Given the description of an element on the screen output the (x, y) to click on. 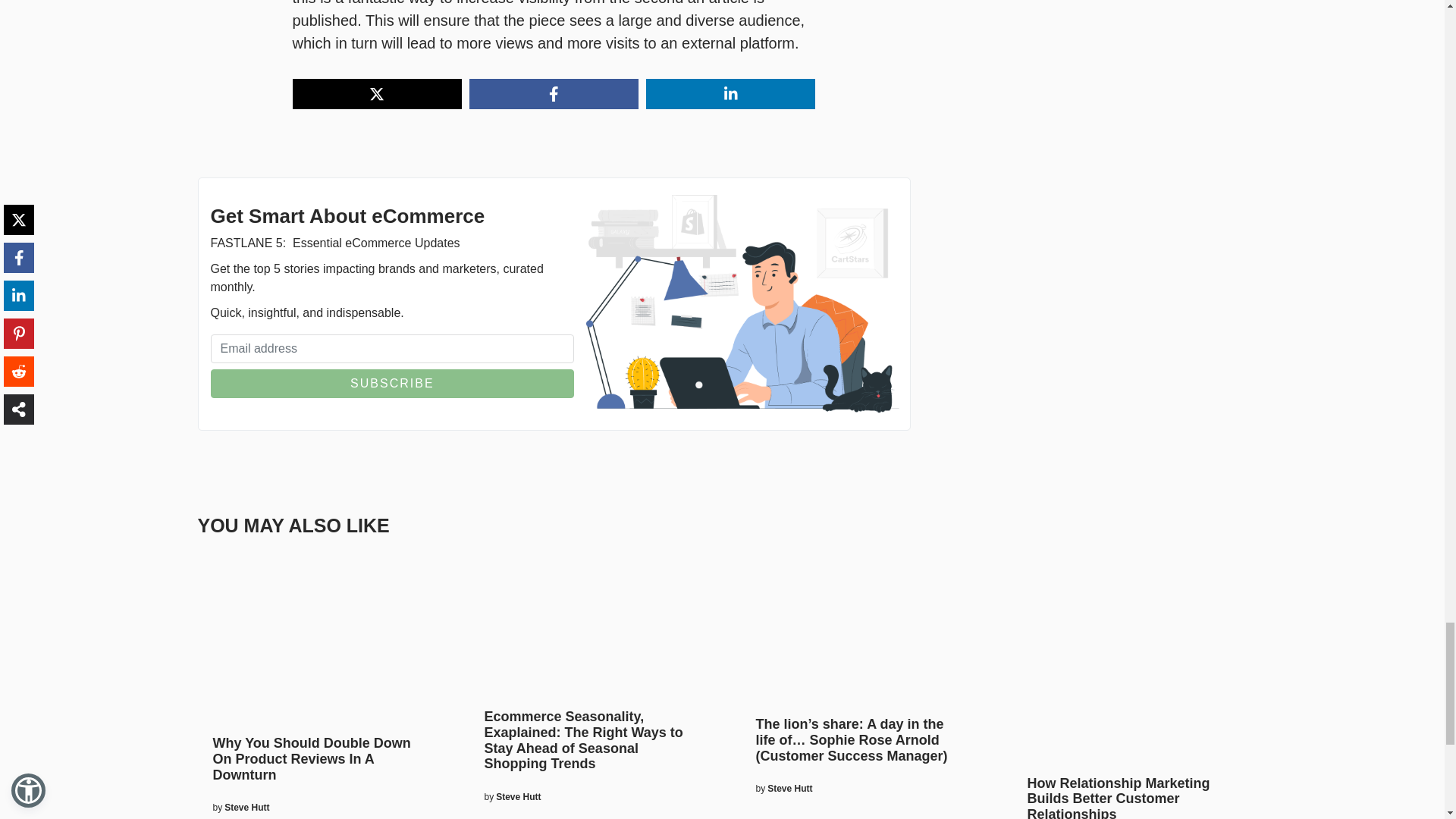
View all posts by Steve Hutt (246, 807)
View all posts by Steve Hutt (789, 788)
SUBSCRIBE (393, 383)
View all posts by Steve Hutt (518, 796)
